Given the description of an element on the screen output the (x, y) to click on. 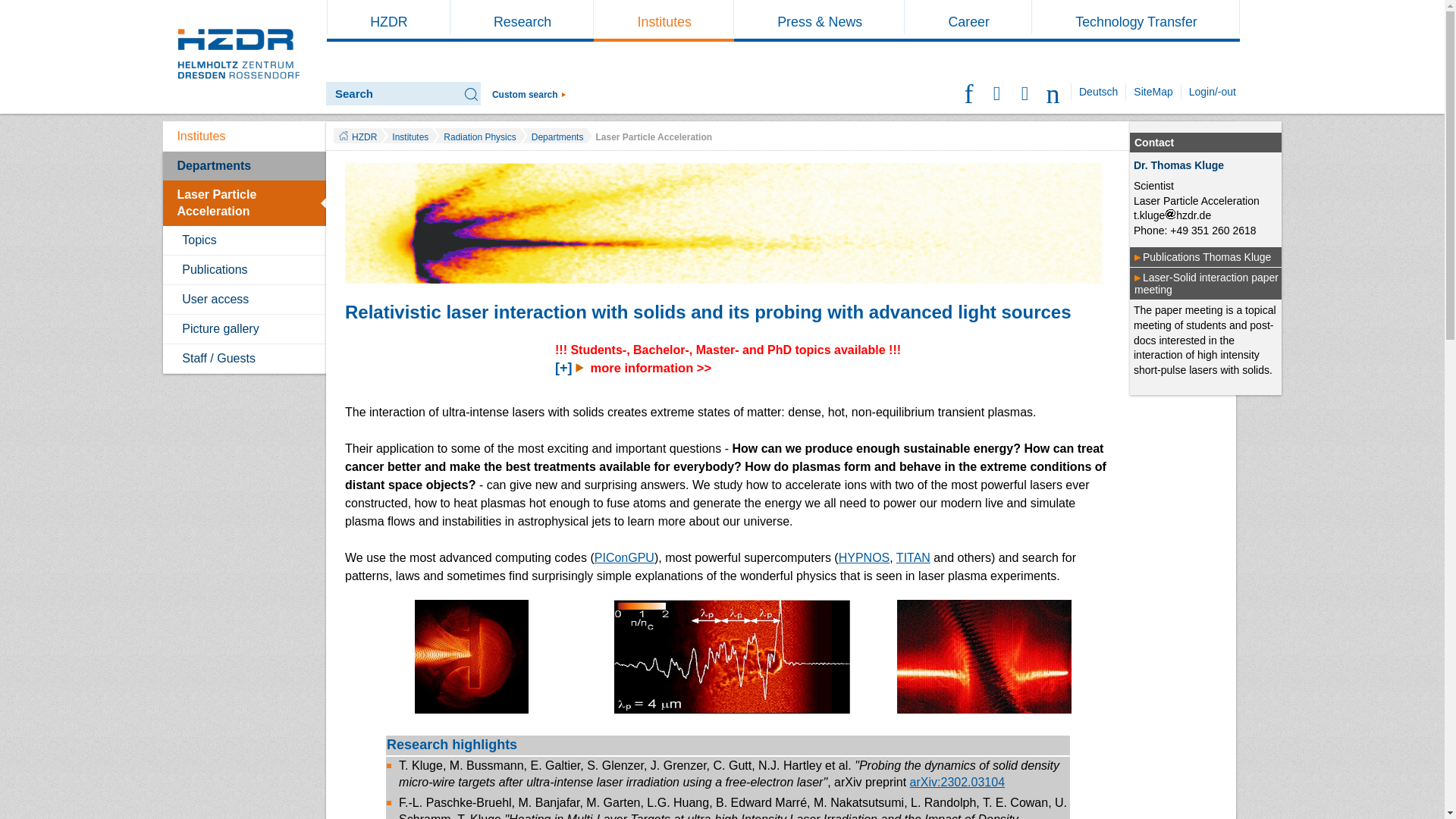
Department FWKT (1196, 200)
Search for webpages, files, contacts and publications (529, 94)
Twitter (969, 91)
External link (1206, 256)
Institutes (663, 20)
HZDR (387, 20)
LinkedIn (1025, 91)
plasma-sim (732, 656)
edensity (983, 656)
YouTube (1053, 91)
